Given the description of an element on the screen output the (x, y) to click on. 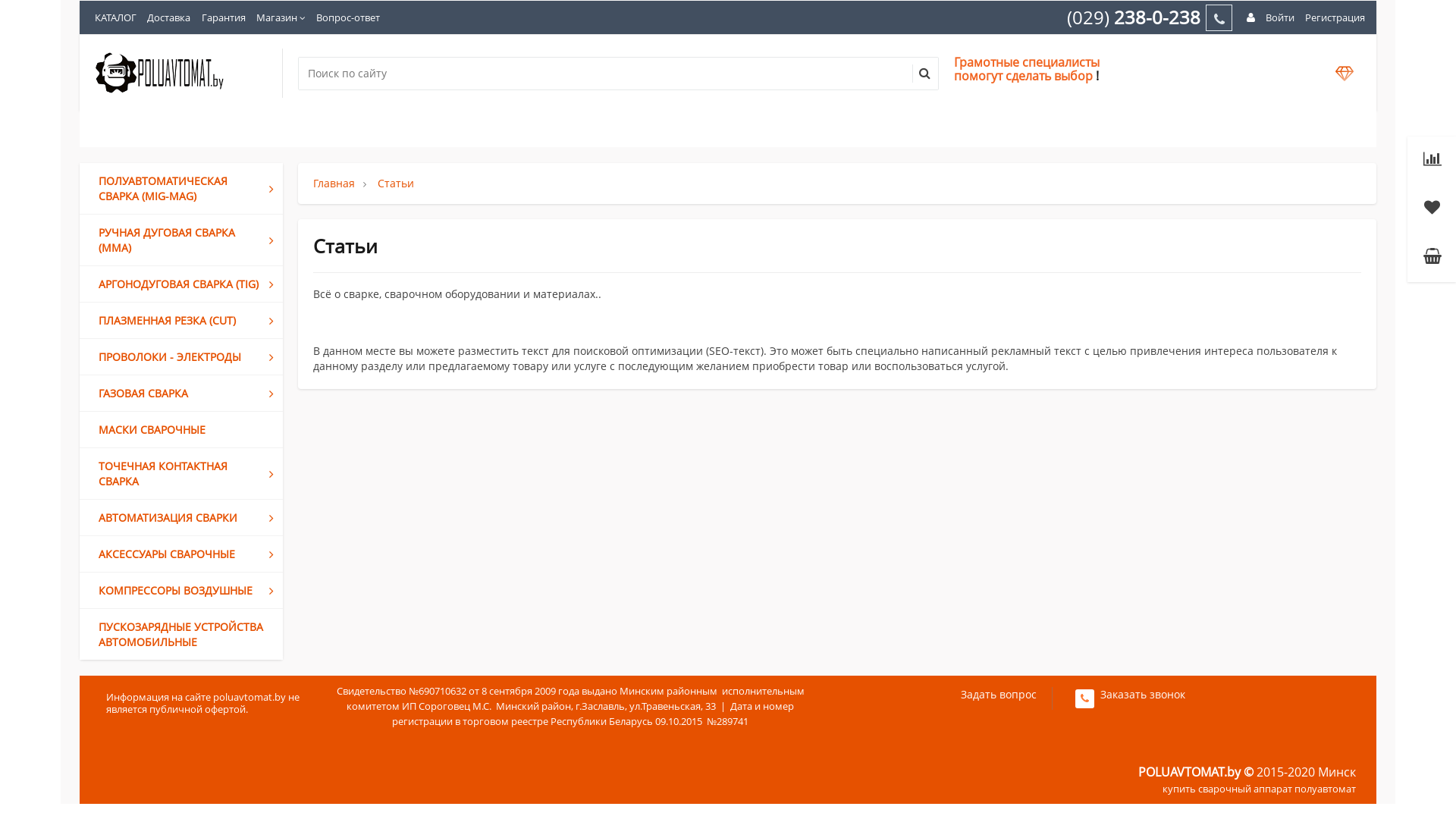
 (029) 238-0-238 Element type: text (1136, 17)
BXReady Element type: hover (159, 73)
